Given the description of an element on the screen output the (x, y) to click on. 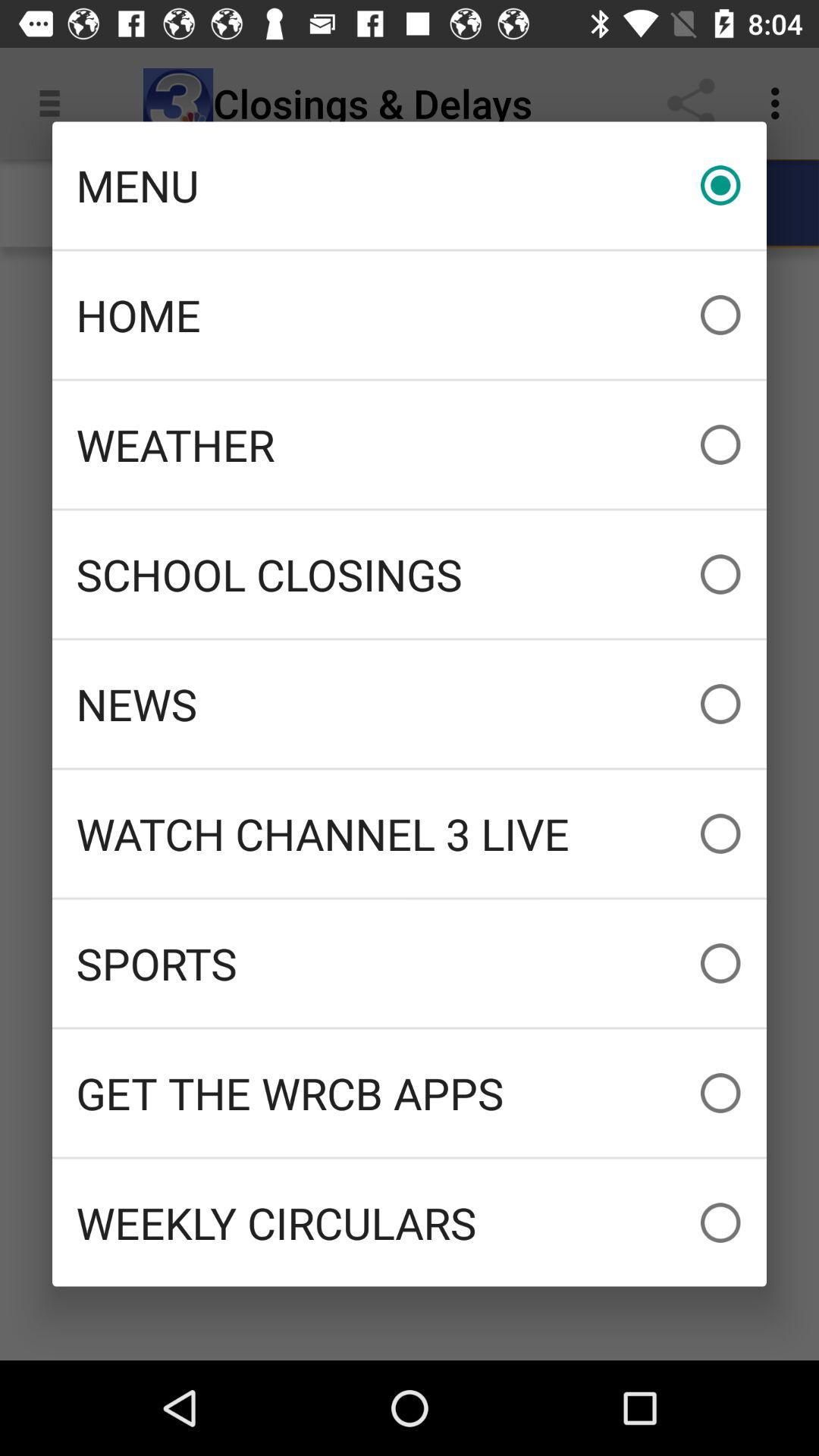
open the item above weekly circulars item (409, 1092)
